Given the description of an element on the screen output the (x, y) to click on. 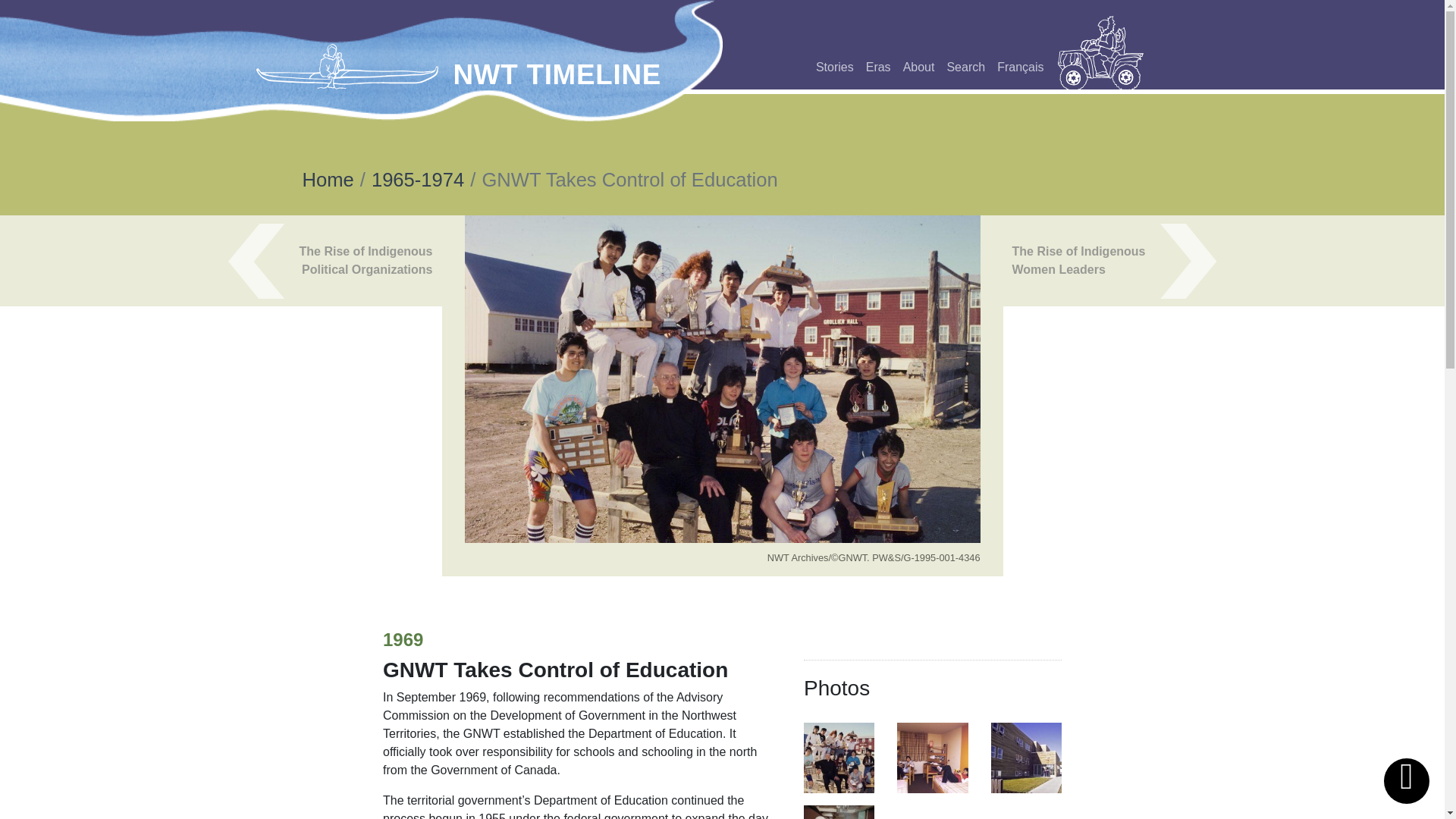
About (918, 67)
Stories (834, 67)
Eras (878, 67)
About (918, 67)
Search (965, 67)
Stories (834, 67)
Search (965, 67)
Eras (878, 67)
NWT TIMELINE (557, 74)
NWT Timeline Home (350, 65)
